Given the description of an element on the screen output the (x, y) to click on. 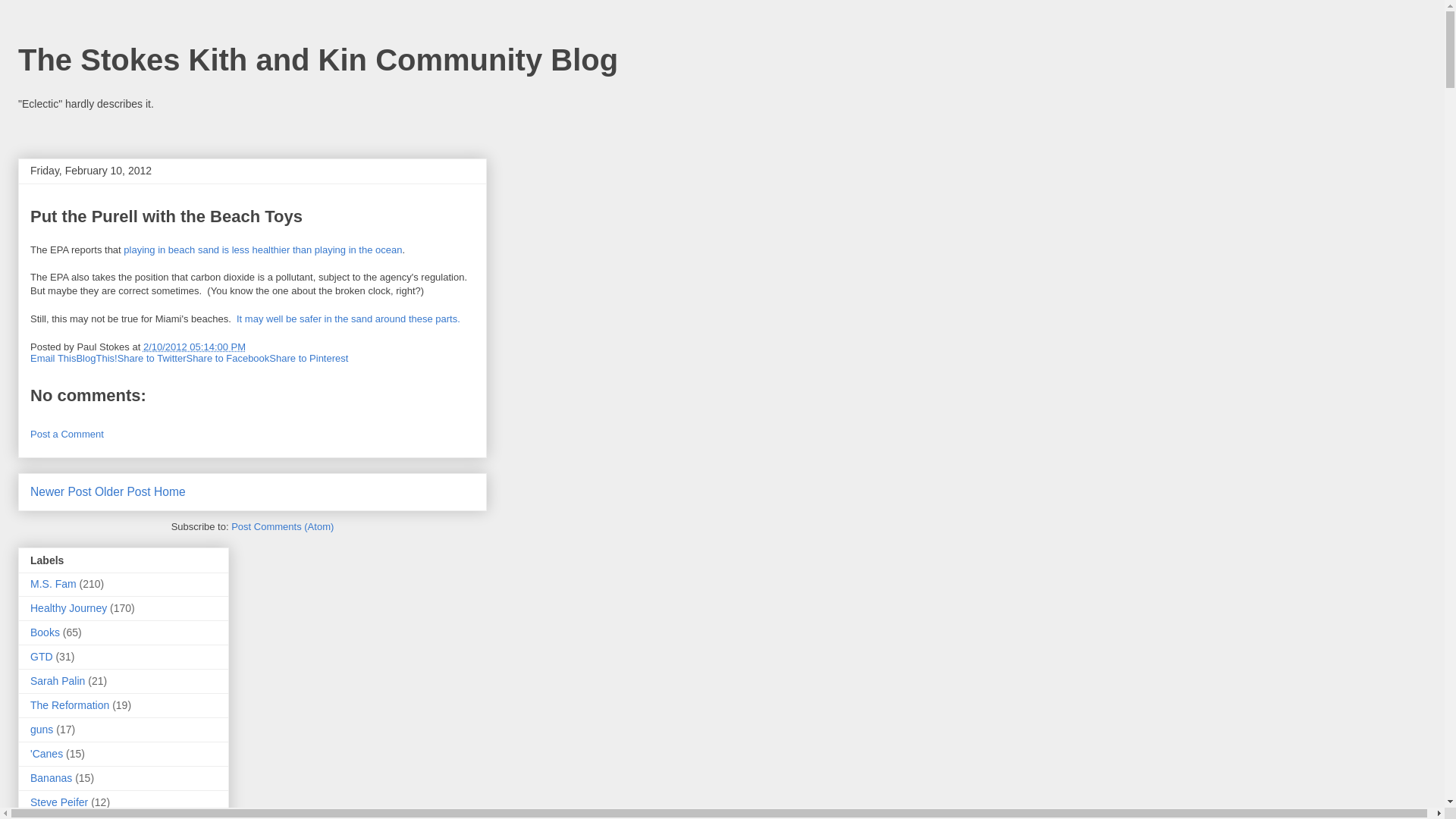
Share to Twitter (151, 357)
BlogThis! (95, 357)
Healthy Journey (68, 607)
Email This (52, 357)
Share to Facebook (227, 357)
Books (44, 632)
The Reformation (69, 705)
It may well be safer in the sand around these parts. (347, 318)
The Stokes Kith and Kin Community Blog (317, 59)
Newer Post (60, 491)
Older Post (122, 491)
M.S. Fam (53, 583)
Sarah Palin (57, 680)
Newer Post (60, 491)
